Given the description of an element on the screen output the (x, y) to click on. 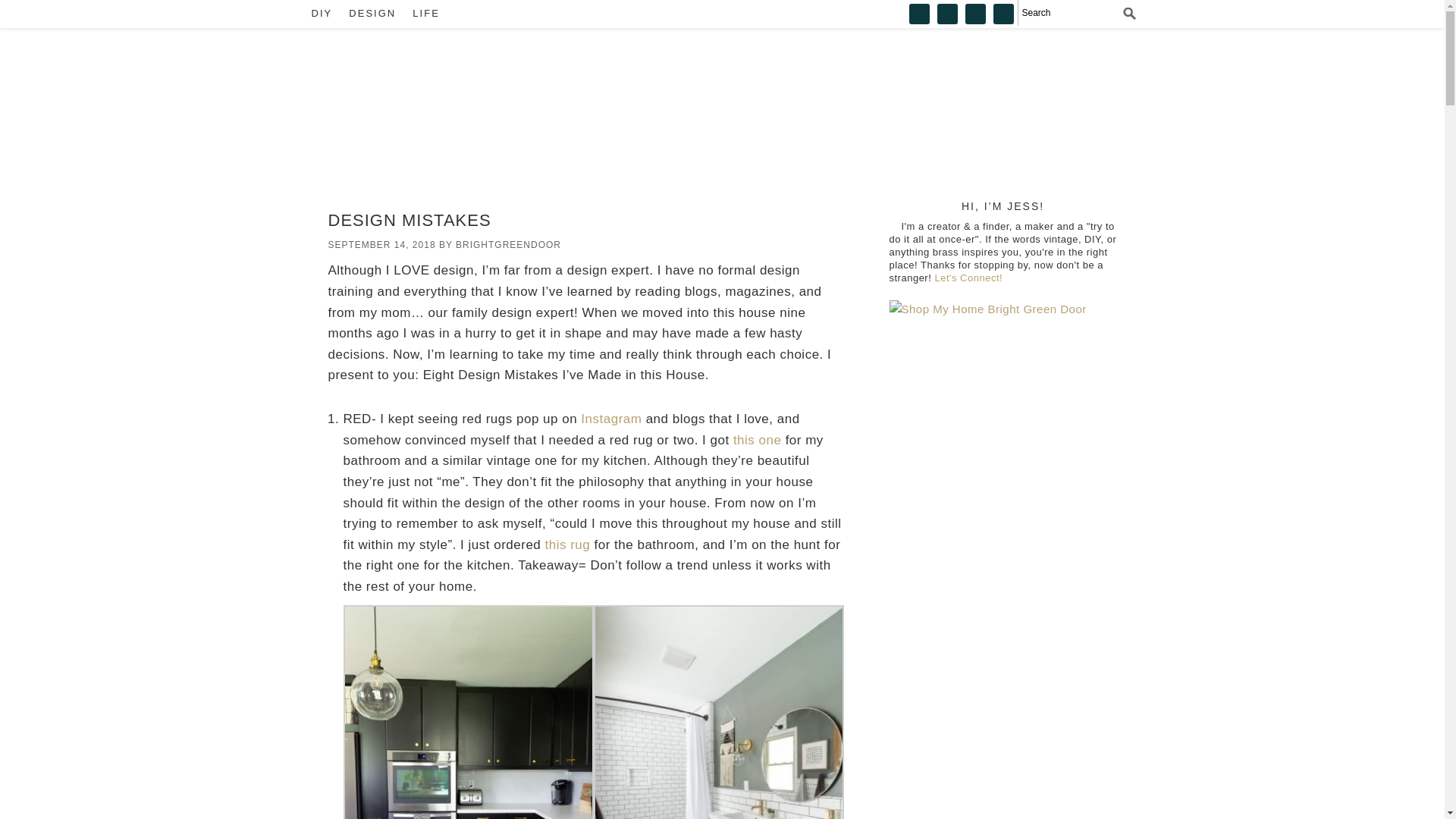
this rug (567, 544)
DESIGN (371, 13)
BRIGHT GREEN DOOR (418, 106)
DIY (320, 13)
BRIGHTGREENDOOR (507, 244)
Instagram (611, 418)
LIFE (425, 13)
this one (757, 440)
